Given the description of an element on the screen output the (x, y) to click on. 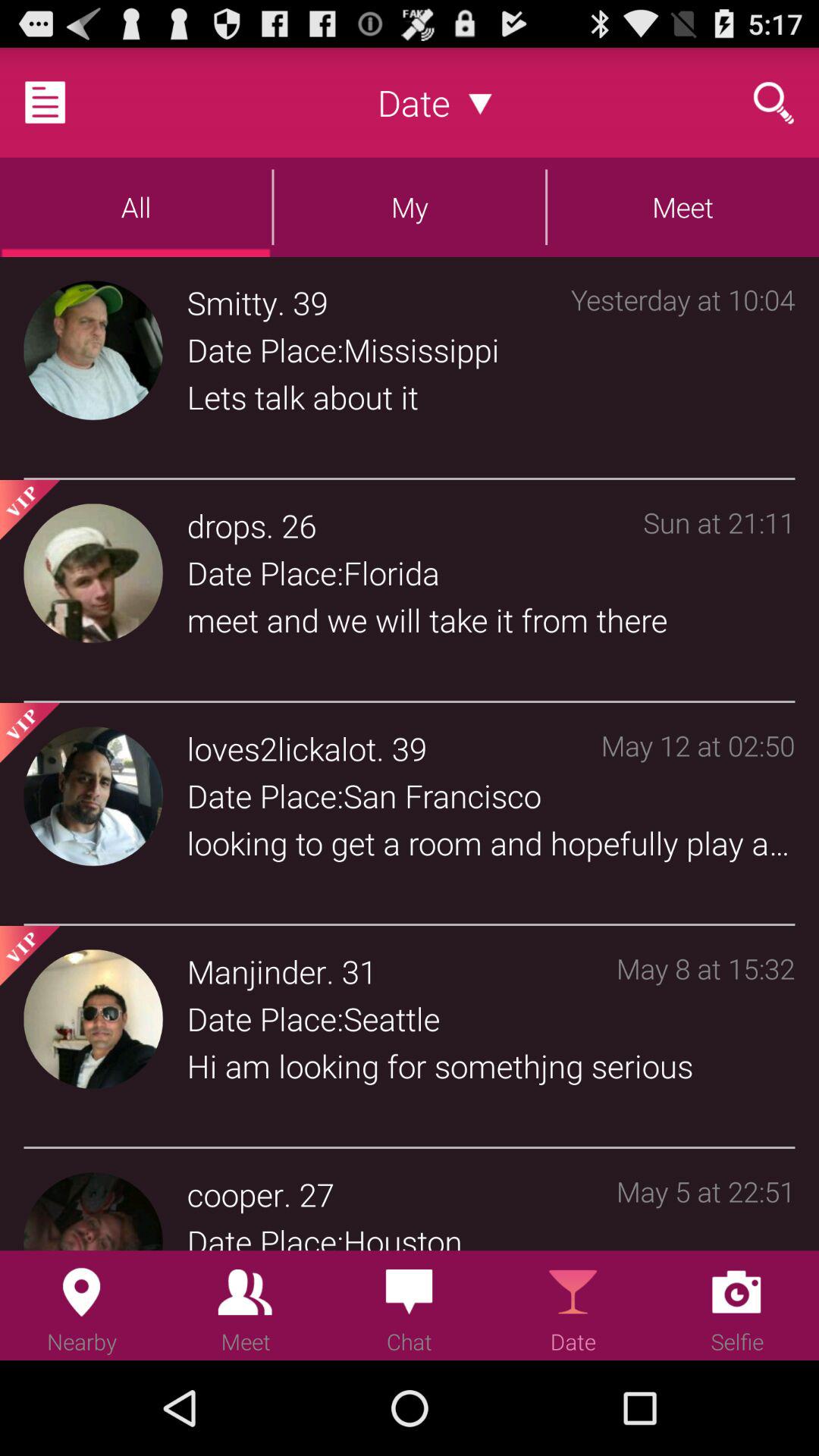
jump to yesterday at 10 item (683, 370)
